Given the description of an element on the screen output the (x, y) to click on. 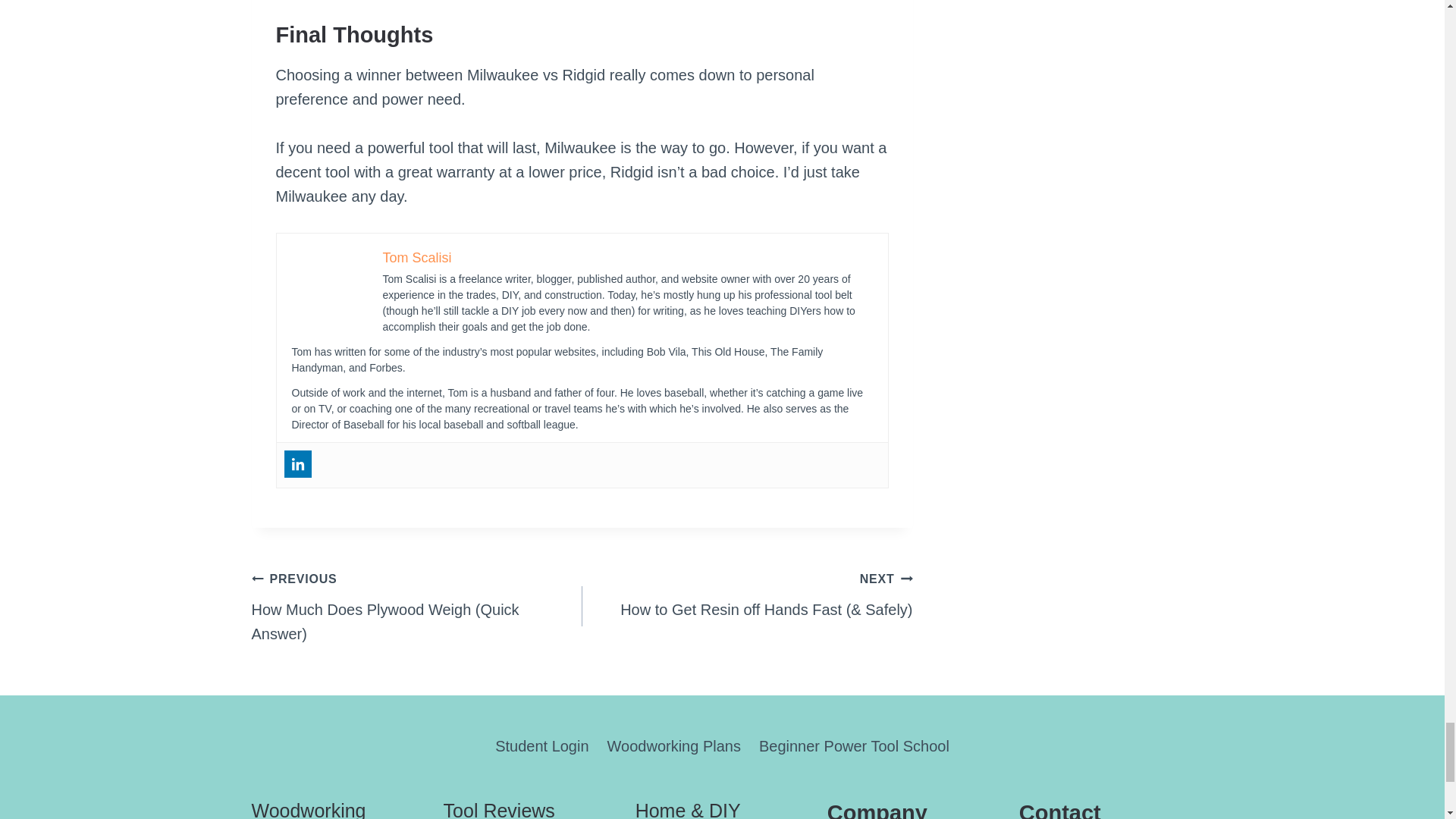
Linkedin (297, 463)
Tom Scalisi (416, 257)
